Given the description of an element on the screen output the (x, y) to click on. 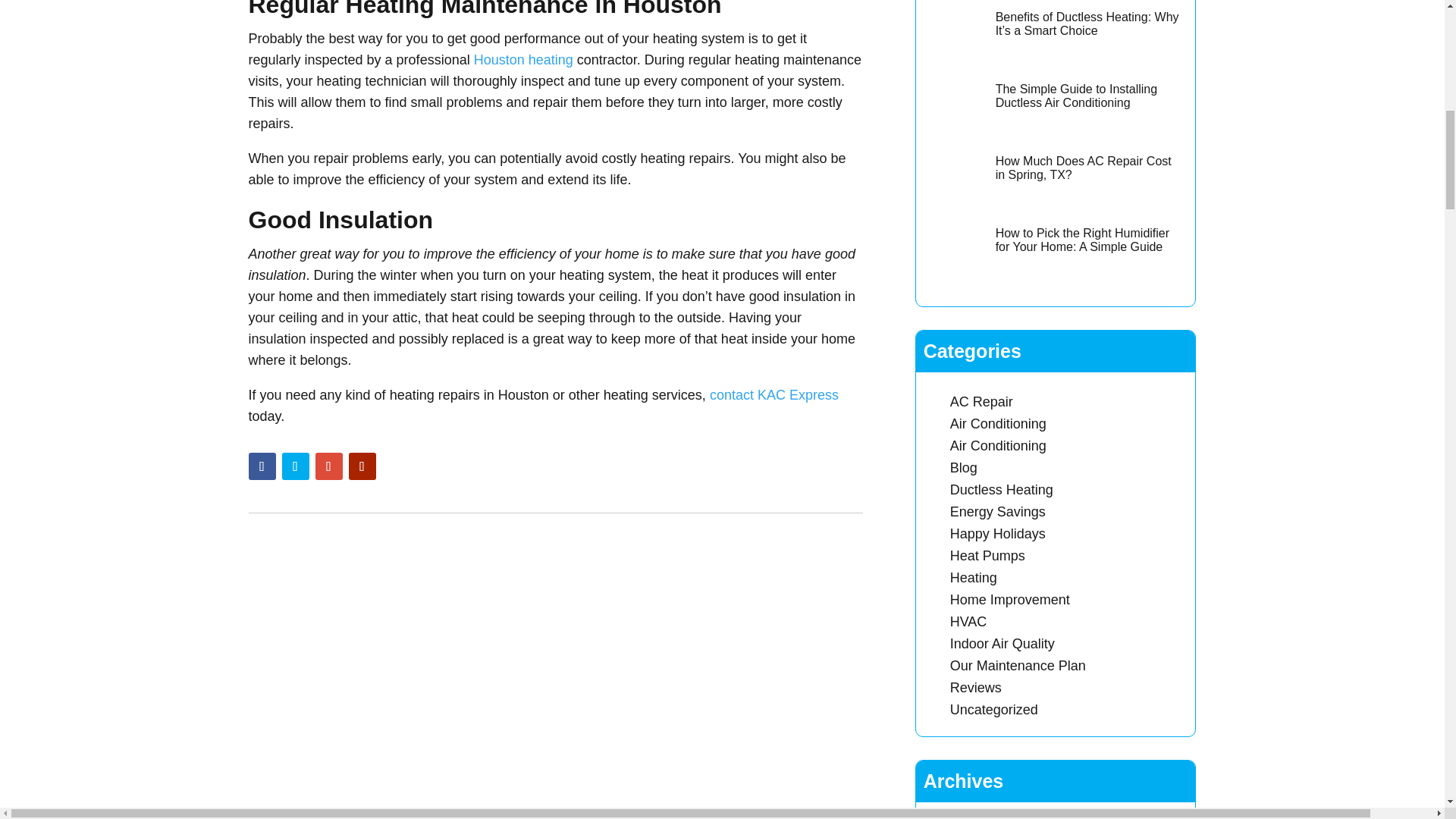
Follow on Facebook (262, 465)
Follow on Youtube (362, 465)
Follow on Twitter (295, 465)
